Given the description of an element on the screen output the (x, y) to click on. 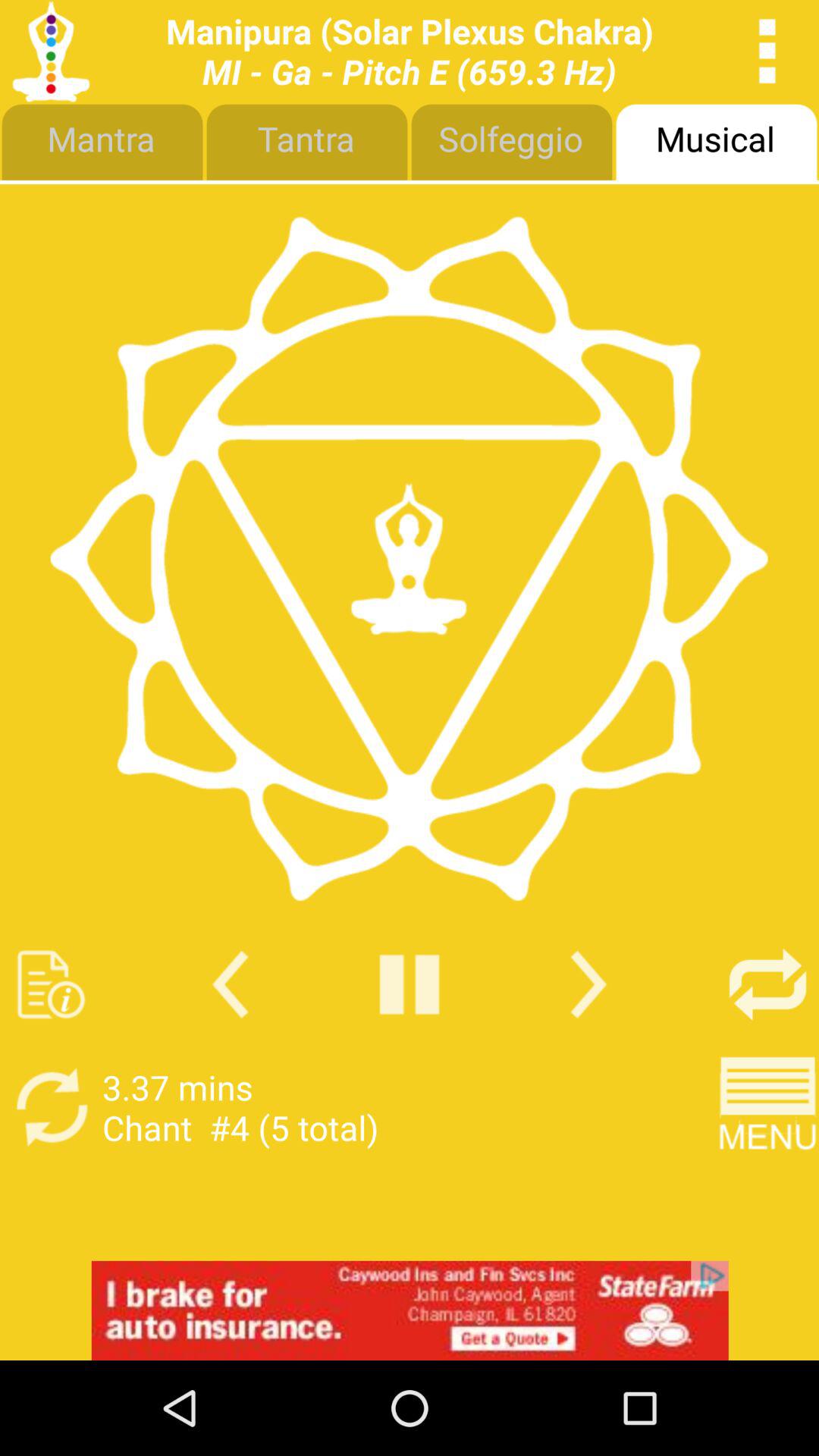
shuffle (767, 984)
